Given the description of an element on the screen output the (x, y) to click on. 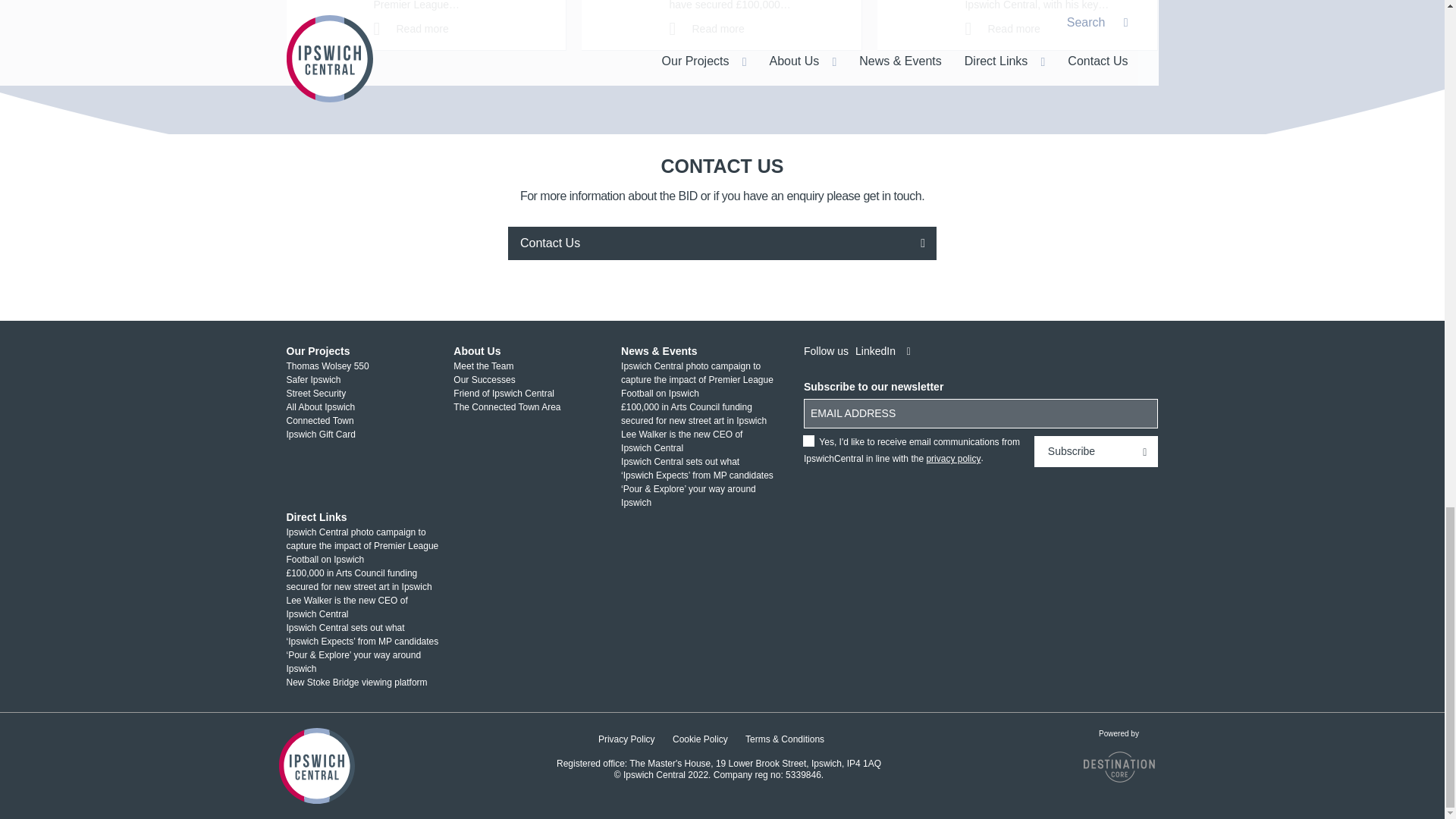
Lee Walker is the new CEO of Ipswich Central (1001, 28)
yes (809, 441)
